Given the description of an element on the screen output the (x, y) to click on. 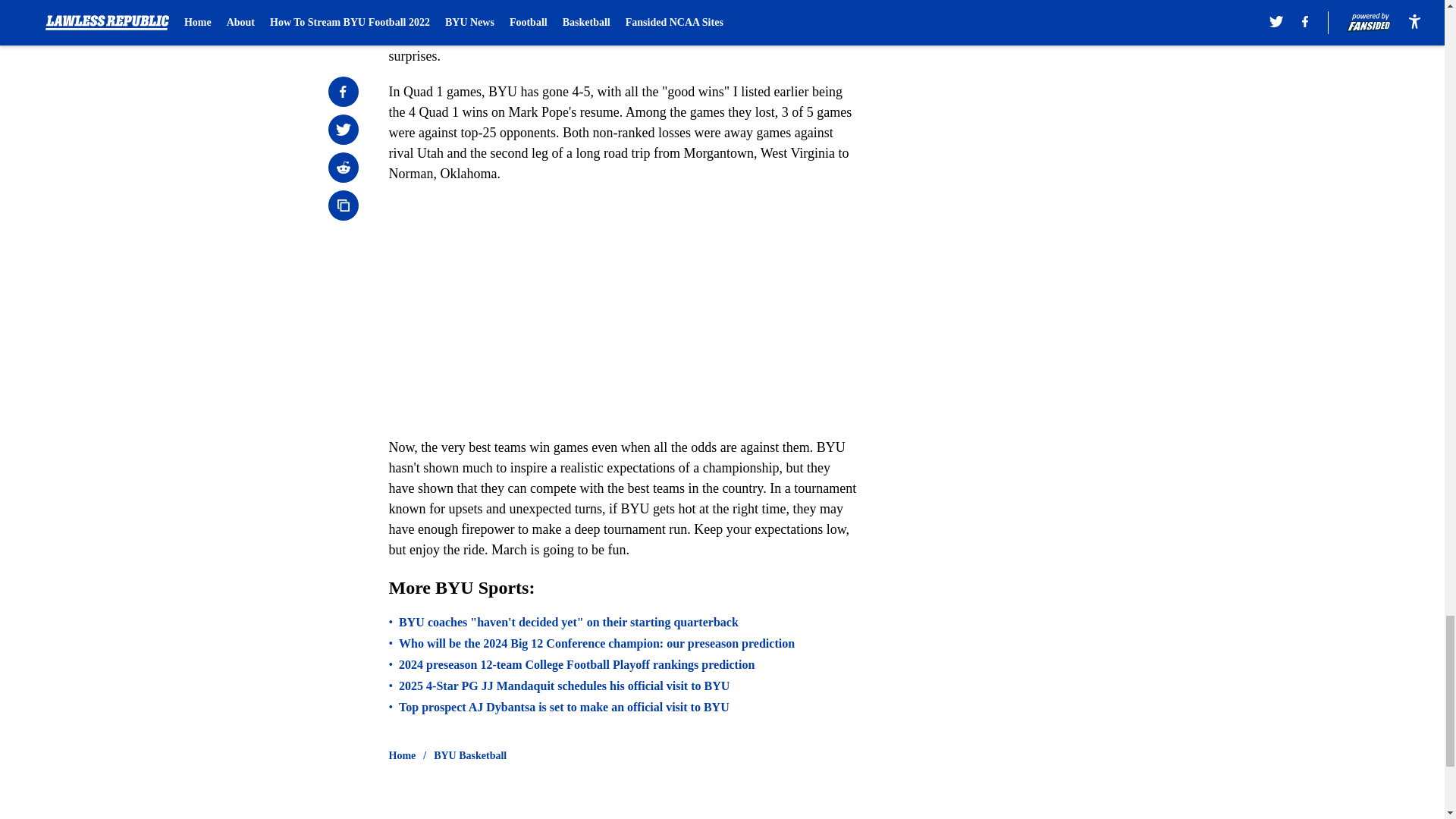
BYU Basketball (469, 755)
Home (401, 755)
